Given the description of an element on the screen output the (x, y) to click on. 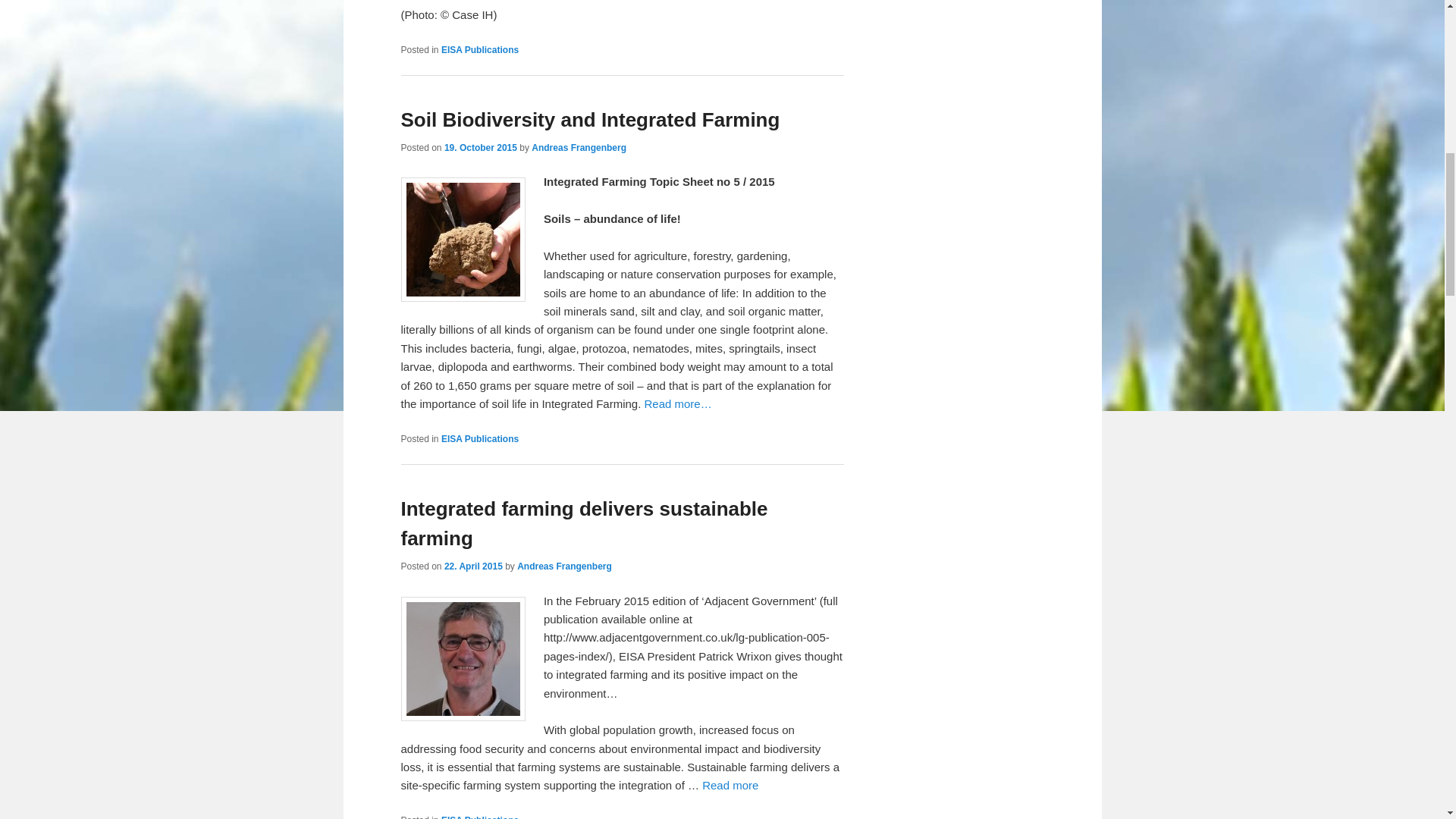
11:06 (480, 147)
View all posts by Andreas Frangenberg (578, 147)
View all posts by Andreas Frangenberg (563, 566)
10:25 (473, 566)
